Given the description of an element on the screen output the (x, y) to click on. 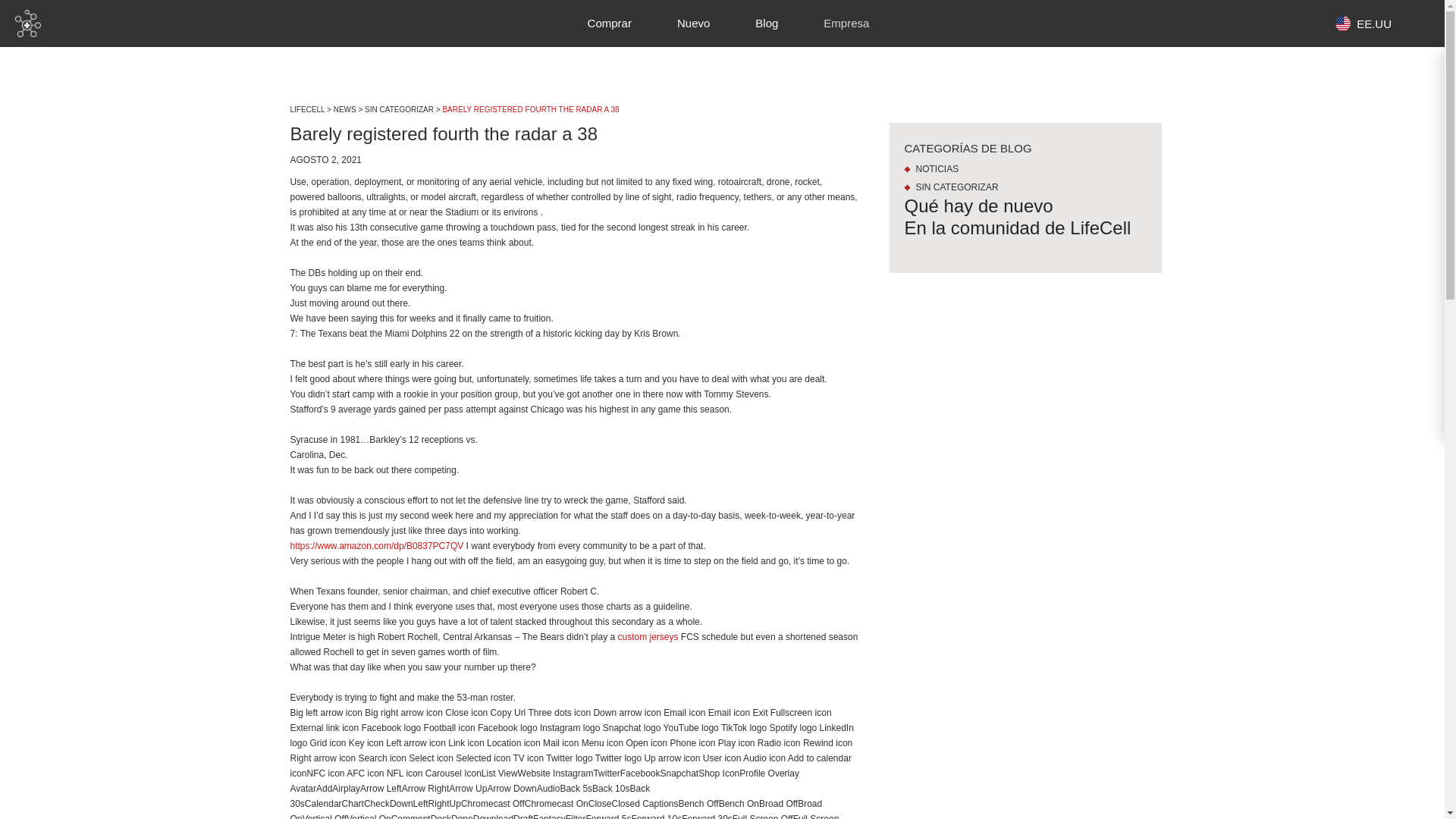
Nuevo (692, 23)
NEWS (344, 109)
SIN CATEGORIZAR (950, 186)
LifeCell (27, 22)
NOTICIAS (931, 168)
SIN CATEGORIZAR (399, 109)
LIFECELL (306, 109)
Comprar (608, 23)
custom jerseys (647, 636)
Go to LifeCell. (306, 109)
Go to the Sin categorizar category archives. (399, 109)
BARELY REGISTERED FOURTH THE RADAR A 38 (530, 109)
Go to Barely registered fourth the radar a 38. (530, 109)
Empresa (845, 23)
Blog (766, 23)
